Given the description of an element on the screen output the (x, y) to click on. 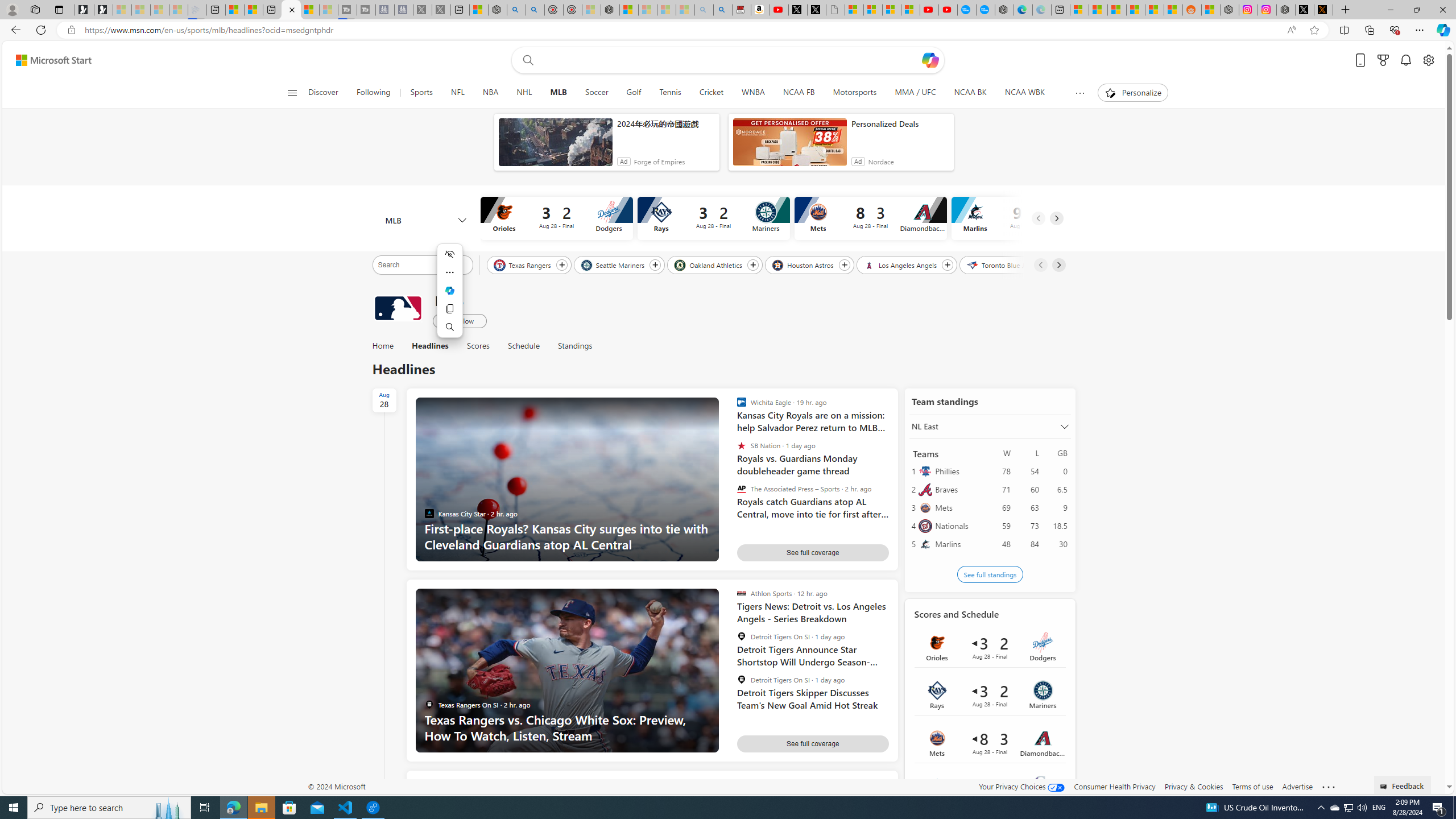
MLB Headlines | Microsoft Start Sports (290, 9)
MLB (558, 92)
Follow Seattle Mariners (655, 265)
Mini menu on text selection (449, 290)
Mini menu on text selection (449, 297)
NCAA WBK (1024, 92)
